Given the description of an element on the screen output the (x, y) to click on. 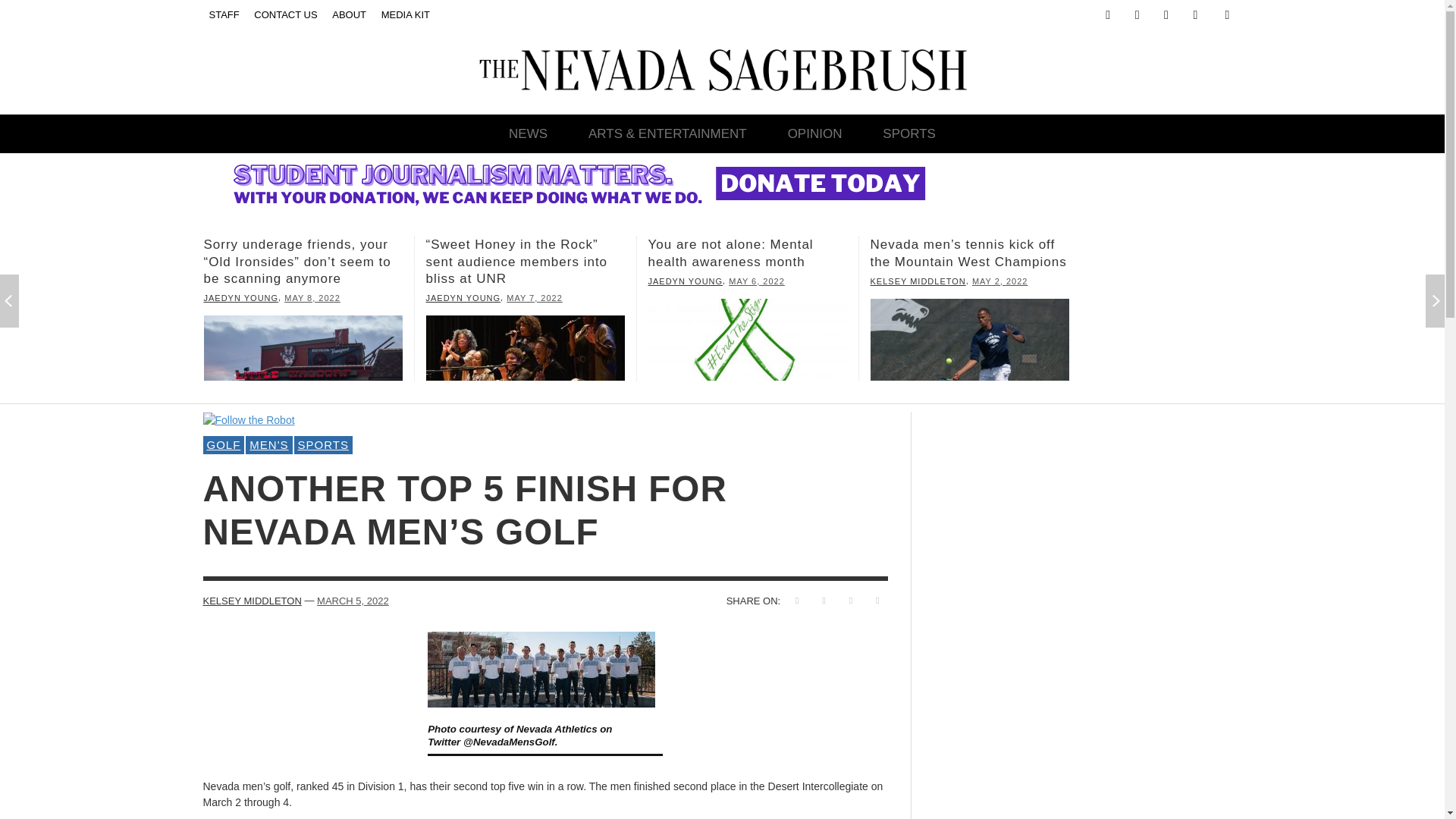
CONTACT US (285, 15)
Instagram (1136, 15)
Twitter (1165, 15)
Facebook (1107, 15)
Youtube (1194, 15)
MEDIA KIT (405, 15)
ABOUT (349, 15)
NEWS (527, 133)
STAFF (224, 15)
